Given the description of an element on the screen output the (x, y) to click on. 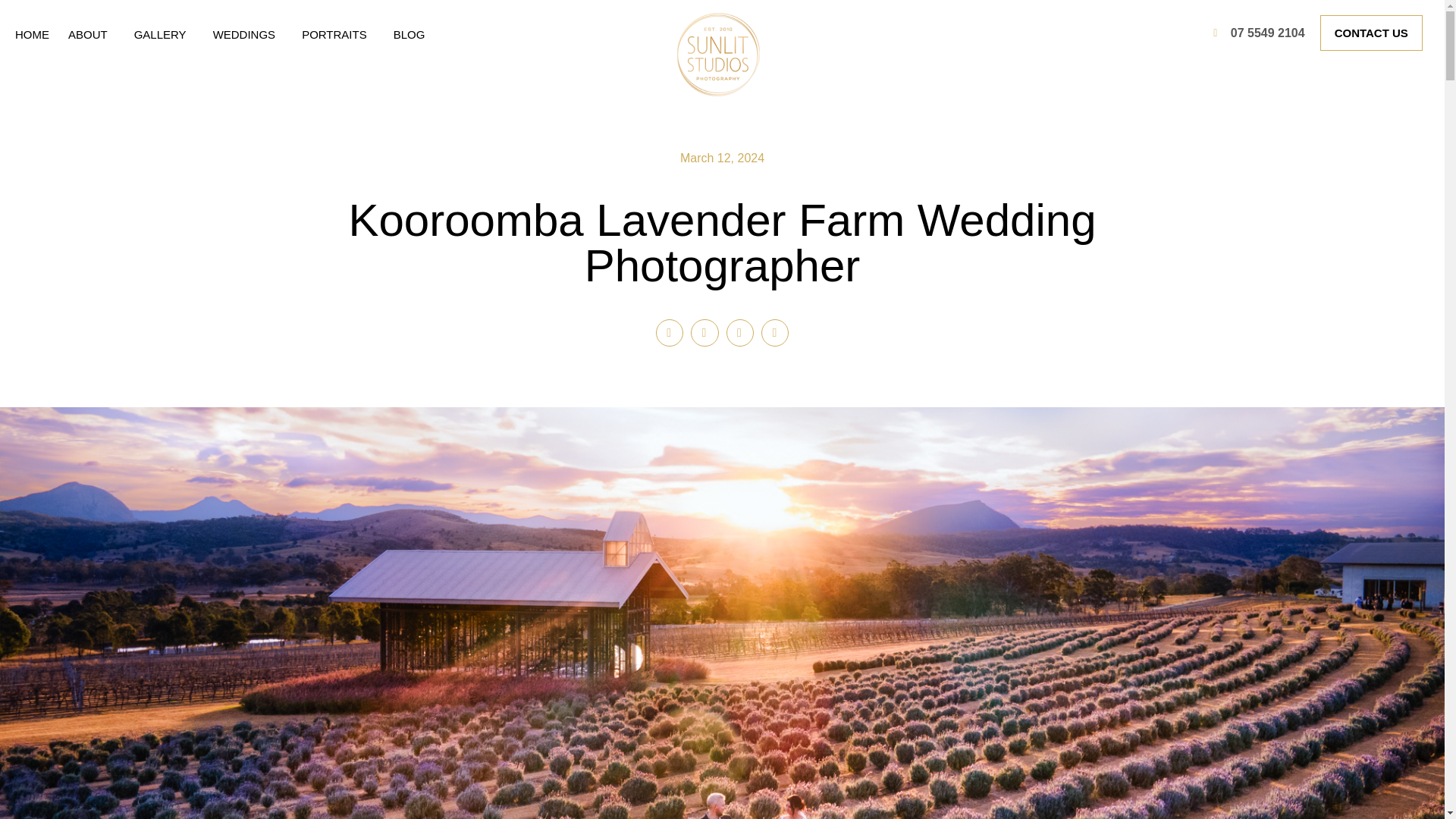
PORTRAITS (337, 34)
BLOG (409, 34)
HOME (31, 34)
ABOUT (91, 34)
WEDDINGS (247, 34)
GALLERY (163, 34)
